Given the description of an element on the screen output the (x, y) to click on. 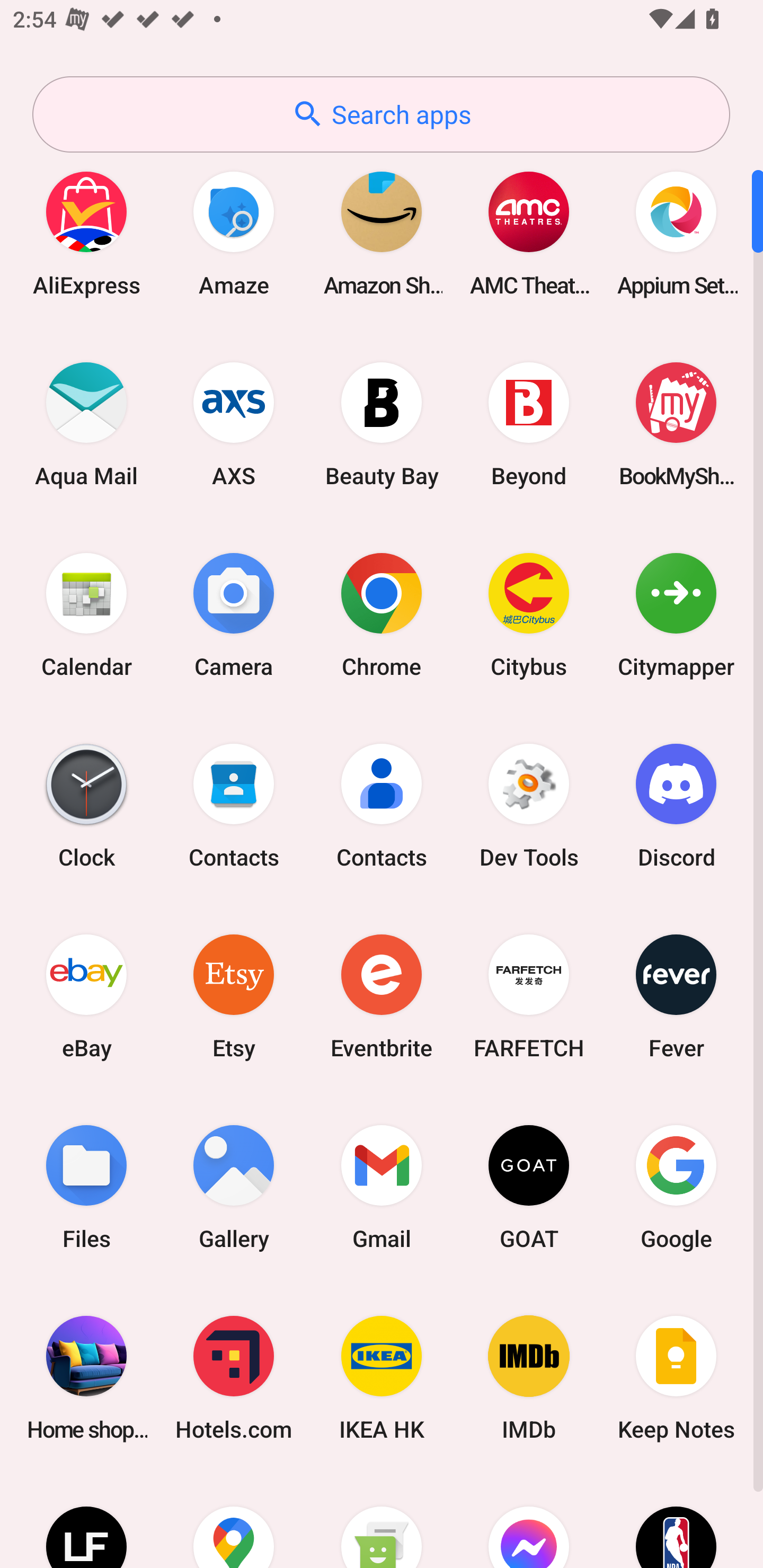
Citymapper (676, 614)
